Given the description of an element on the screen output the (x, y) to click on. 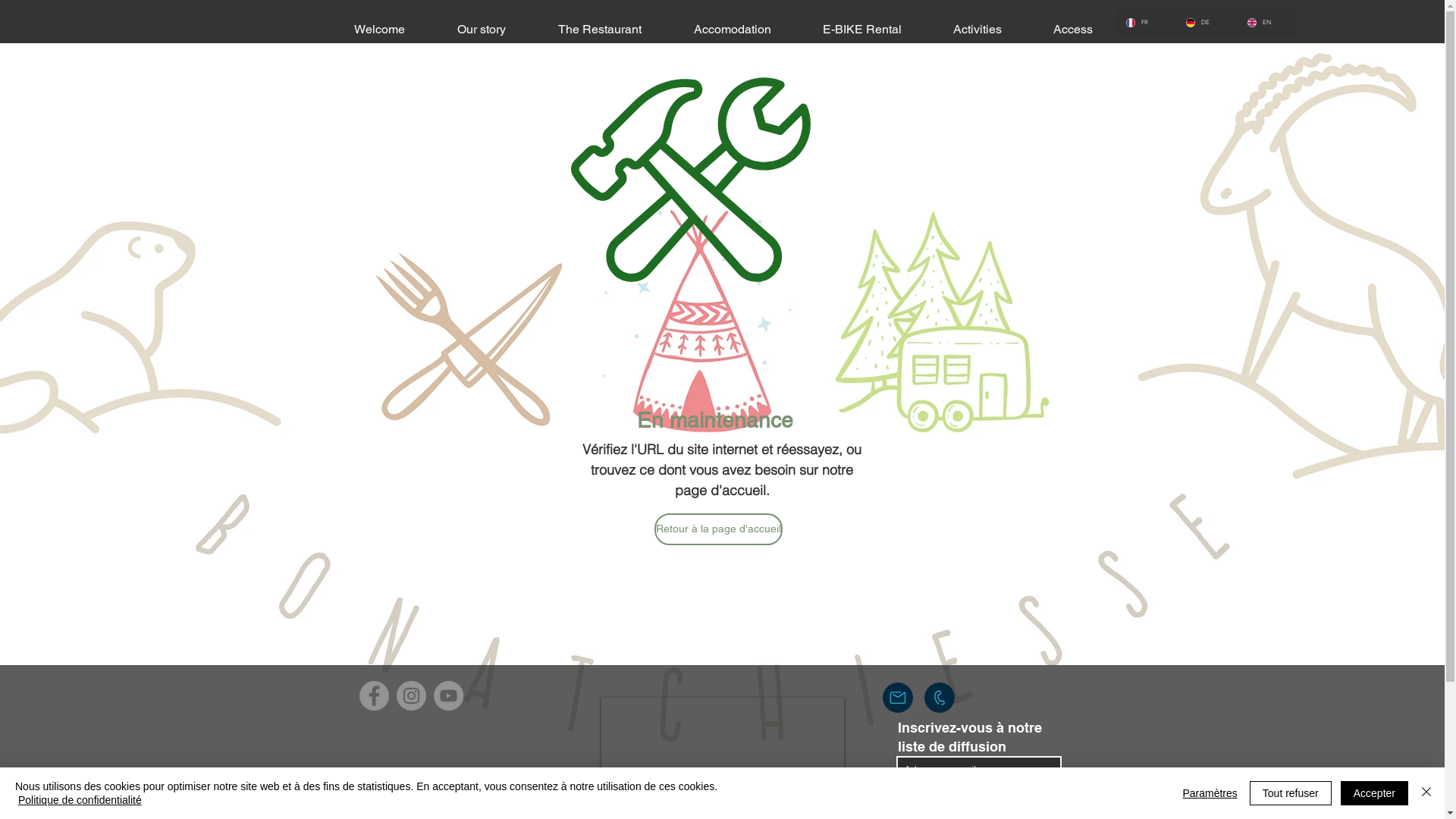
EN Element type: text (1266, 22)
Contactez-nous Element type: hover (939, 697)
The Restaurant Element type: text (600, 29)
Access Element type: text (1071, 29)
Accepter Element type: text (1374, 793)
Welcome Element type: text (378, 29)
Activities Element type: text (976, 29)
Tout refuser Element type: text (1290, 793)
DE Element type: text (1204, 22)
FR Element type: text (1143, 22)
E-BIKE Rental Element type: text (861, 29)
Contactez-nous Element type: hover (898, 697)
Accomodation Element type: text (731, 29)
Our story Element type: text (480, 29)
